Given the description of an element on the screen output the (x, y) to click on. 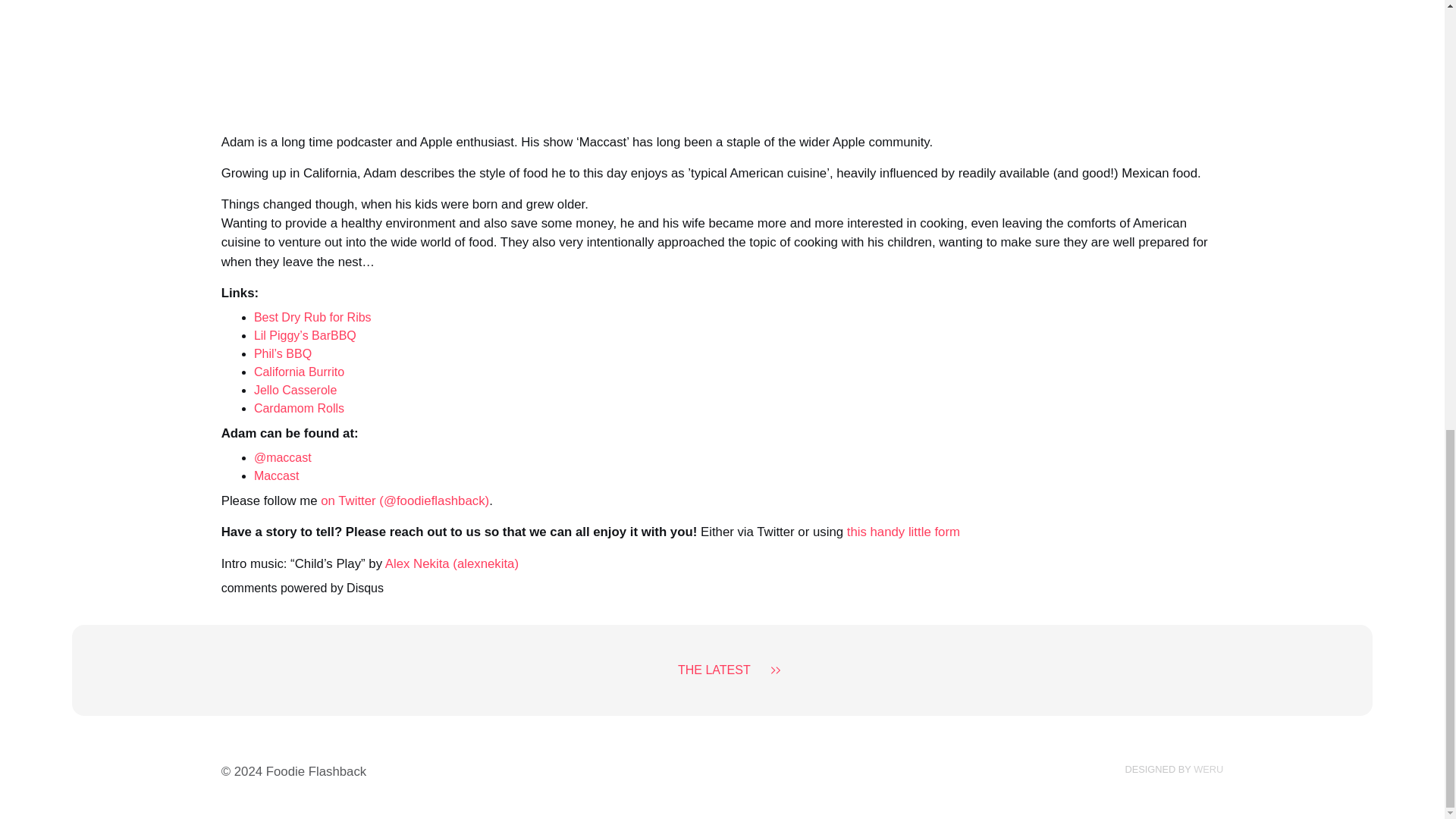
HOME - Californiaburrito (298, 371)
Lil Piggy's BarBBQ (304, 335)
Maccast (276, 475)
Phil's BBQ (282, 353)
California Burrito (298, 371)
WERU (1208, 768)
Best Dry Rub for Ribs (312, 317)
Jello Casserole (294, 390)
Strawberry Jello Casserole (294, 390)
this handy little form (903, 531)
Best Dry Rub for Ribs (312, 317)
Cardamom Rolls (298, 408)
comments powered by Disqus (302, 587)
Linkedin Profile (1208, 768)
